Given the description of an element on the screen output the (x, y) to click on. 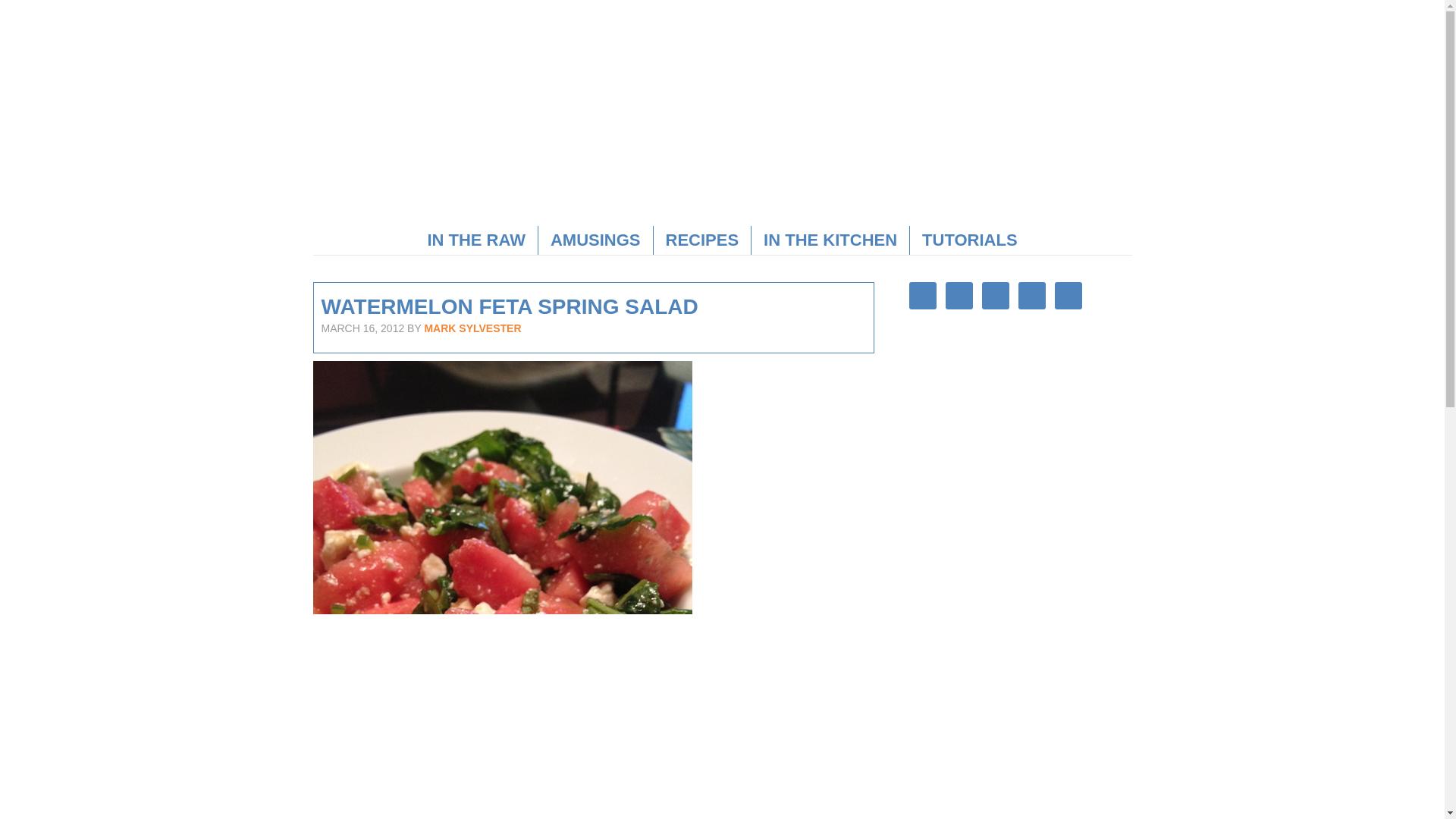
RECIPES (702, 240)
IN THE KITCHEN (829, 240)
IN THE RAW (475, 240)
TUTORIALS (969, 240)
AMUSINGS (595, 240)
MARK SYLVESTER (472, 328)
